Given the description of an element on the screen output the (x, y) to click on. 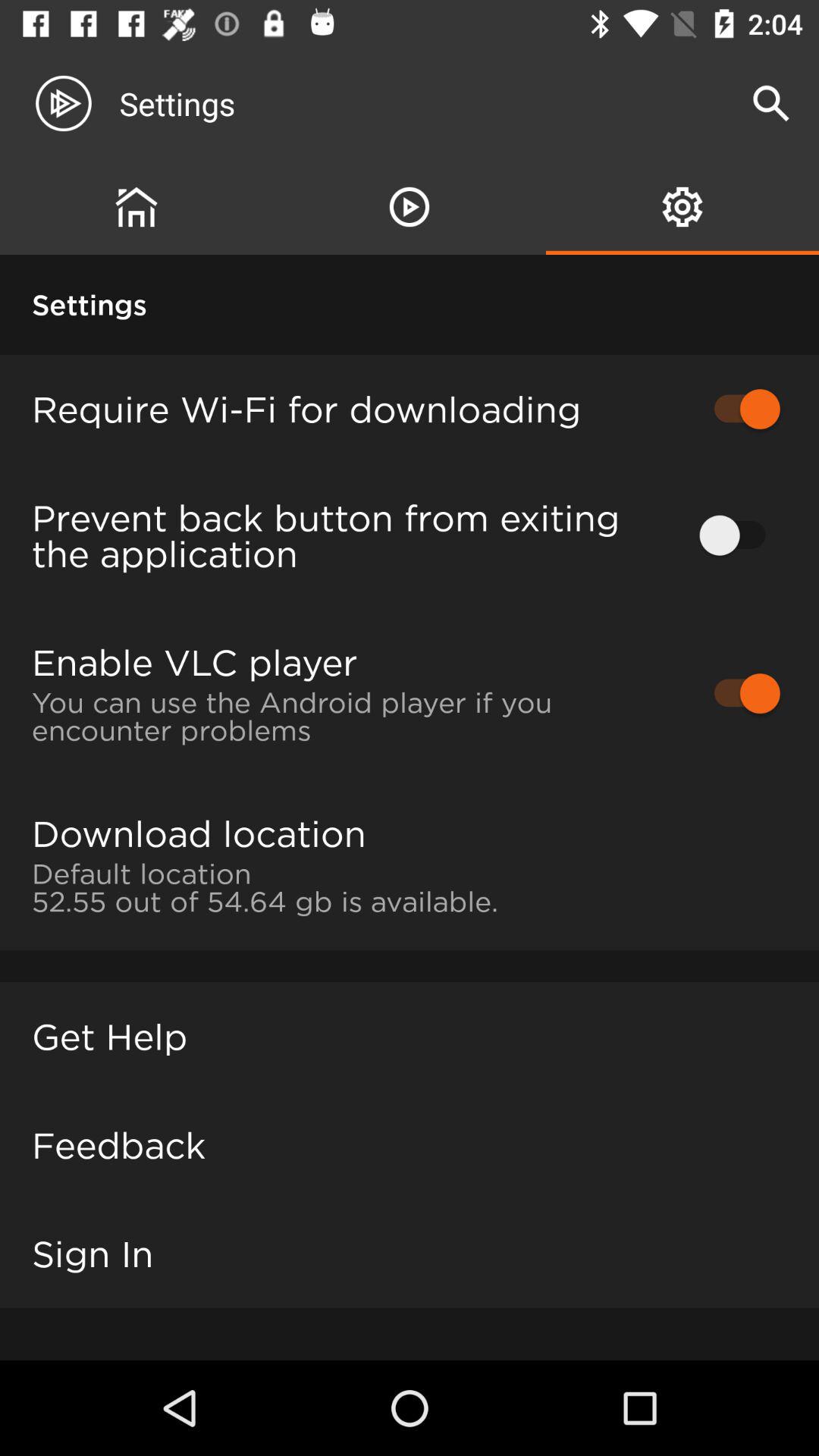
click on the button which is on the left side of enable vlc player (739, 693)
click on the play button beside settings (75, 103)
click on the first unable button (739, 408)
click on the play option right side of home icon (409, 206)
